Given the description of an element on the screen output the (x, y) to click on. 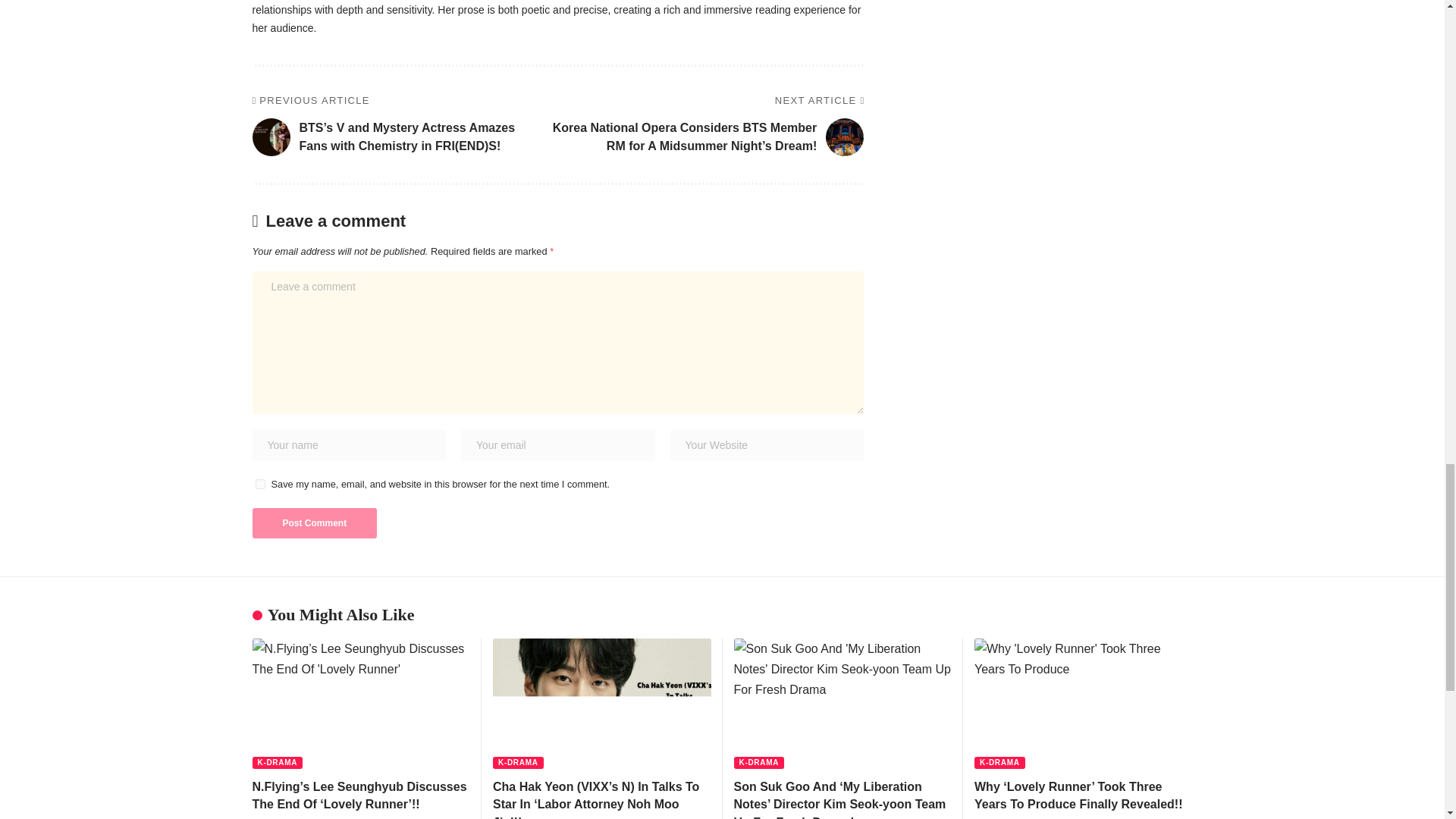
yes (259, 483)
Post Comment (314, 522)
K-DRAMA (518, 762)
Post Comment (314, 522)
K-DRAMA (276, 762)
